Given the description of an element on the screen output the (x, y) to click on. 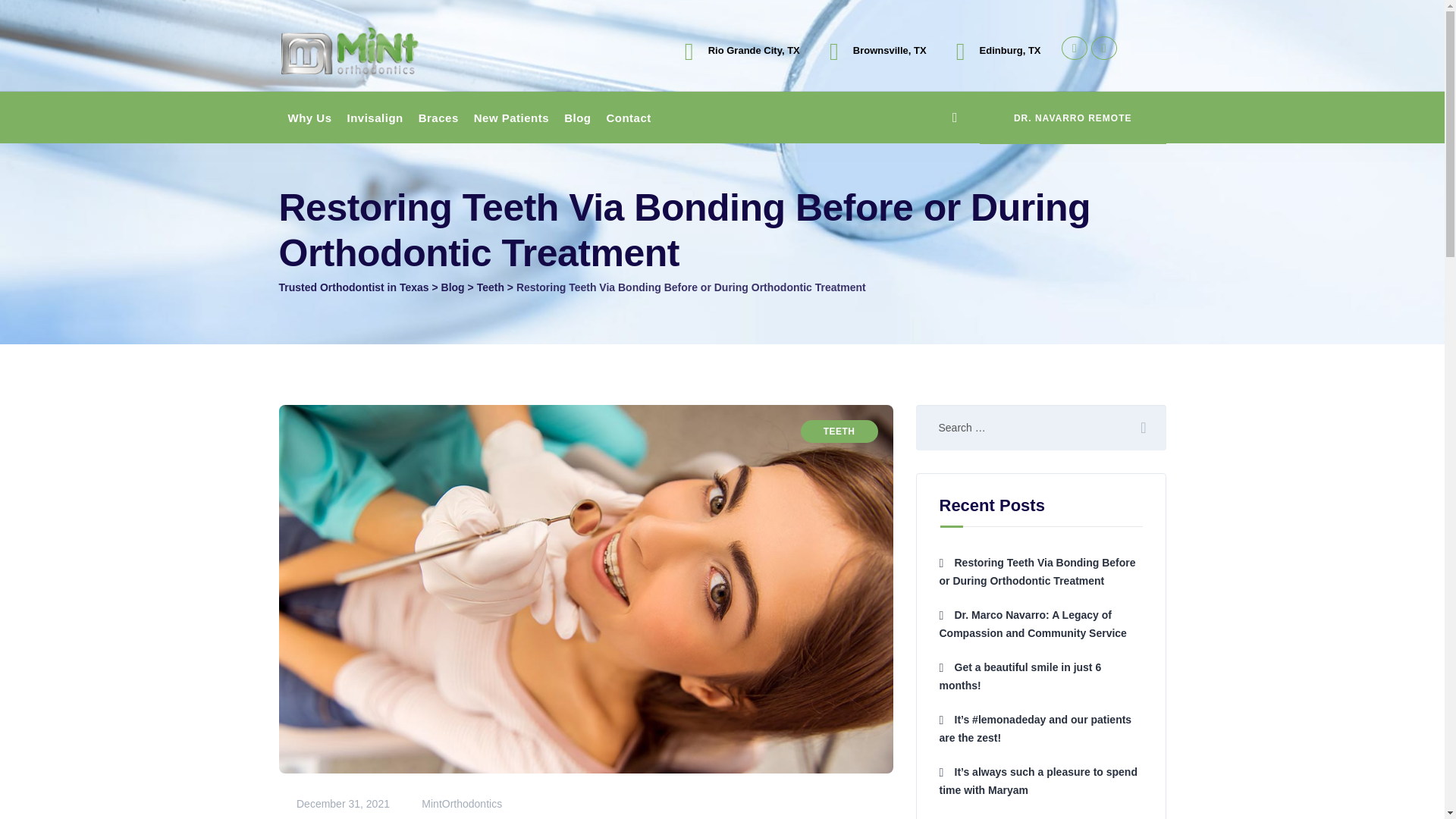
Rio Grande City, TX (753, 50)
Teeth (490, 287)
Trusted Orthodontist in Texas (372, 48)
Invisalign (375, 118)
Posted by MintOrthodontics (453, 803)
Go to Blog. (452, 287)
Blog (452, 287)
Edinburg, TX (1010, 50)
Brownsville, TX (889, 50)
New Patients (511, 118)
